Given the description of an element on the screen output the (x, y) to click on. 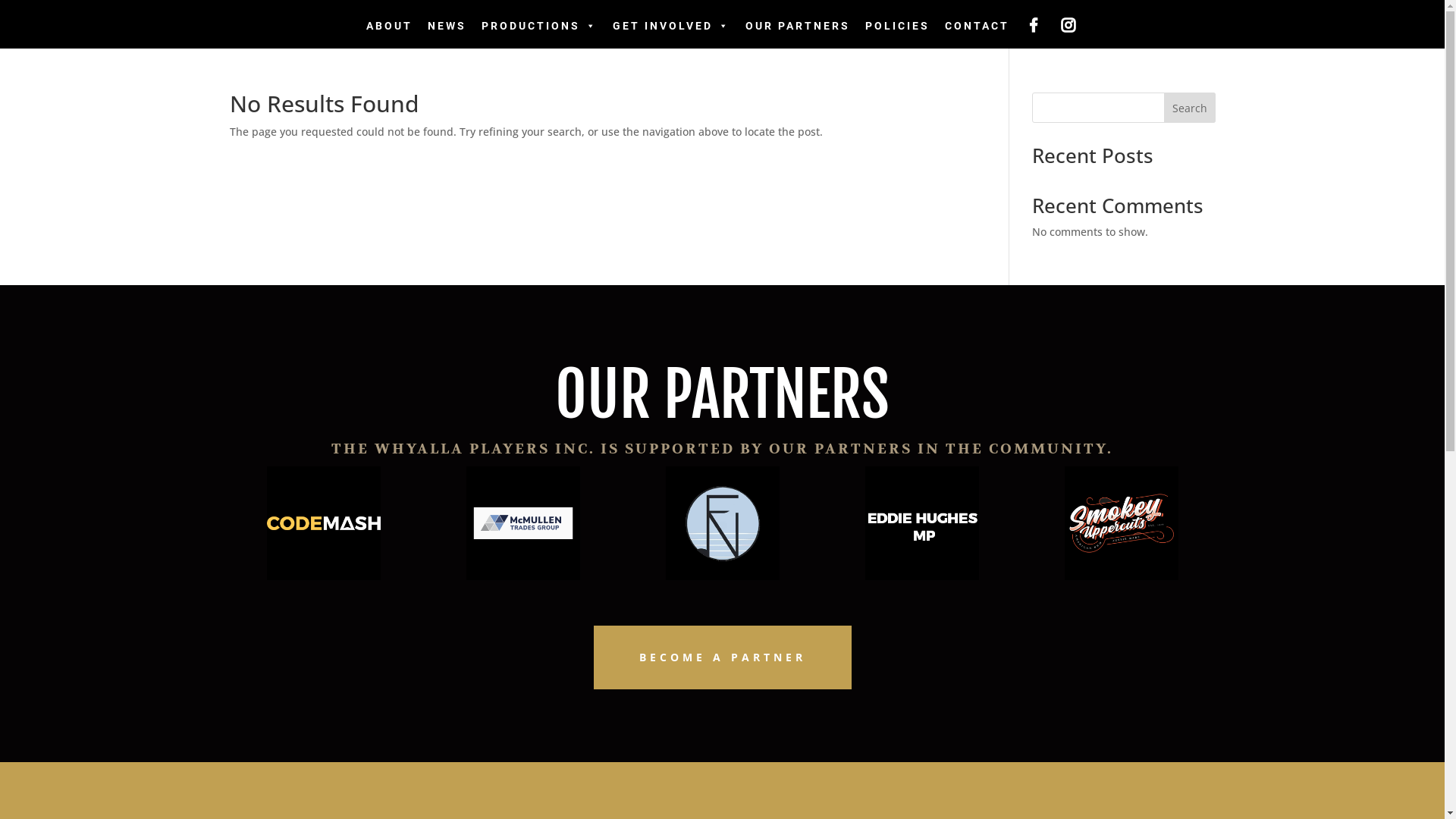
NEWS Element type: text (446, 25)
ABOUT Element type: text (388, 25)
Search Element type: text (1189, 107)
CONTACT Element type: text (976, 25)
BECOME A PARTNER Element type: text (721, 657)
GET INVOLVED Element type: text (671, 25)
POLICIES Element type: text (896, 25)
OUR PARTNERS Element type: text (796, 25)
PRODUCTIONS Element type: text (538, 25)
